Given the description of an element on the screen output the (x, y) to click on. 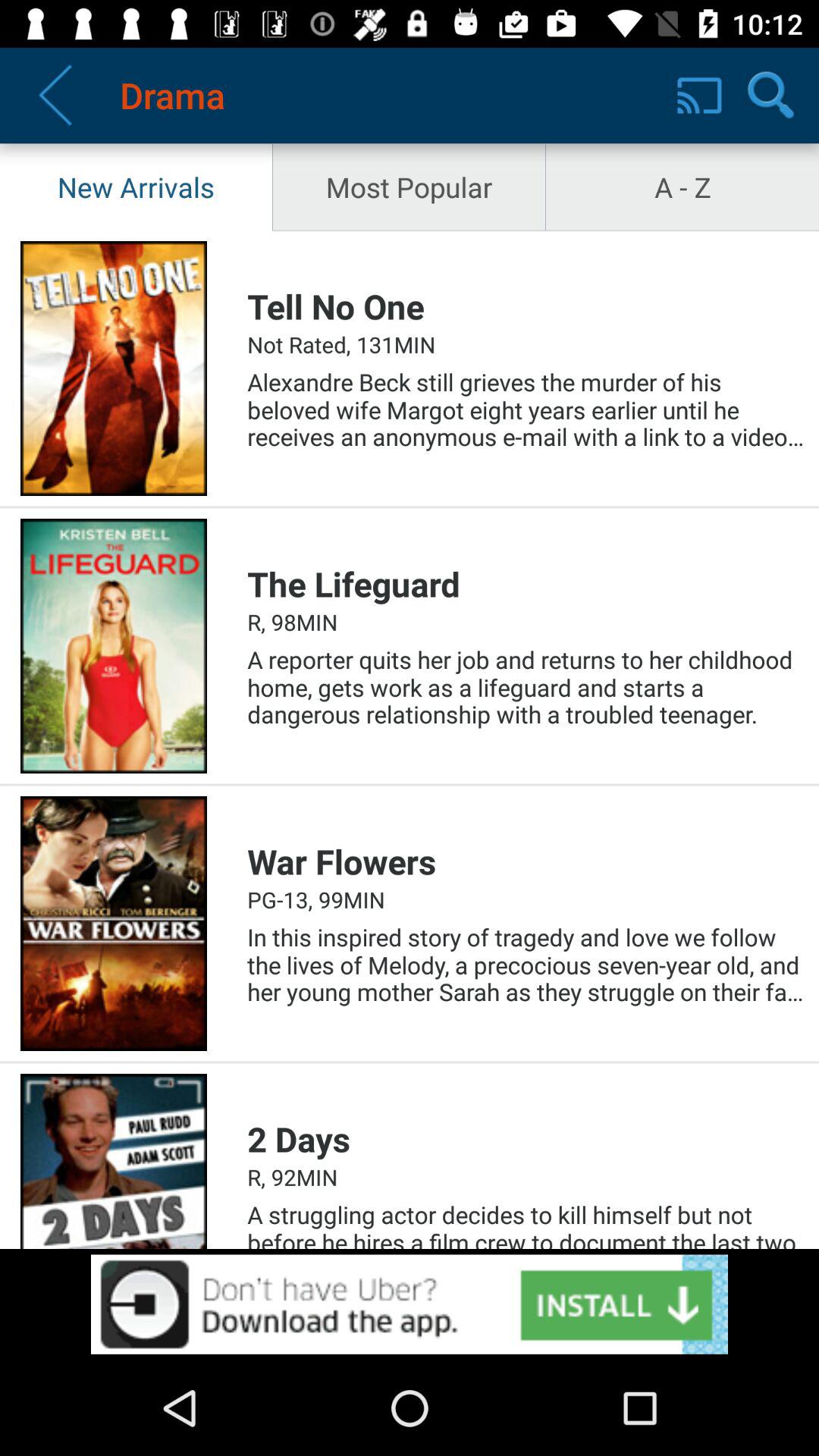
view advertisement in new app (409, 1304)
